Given the description of an element on the screen output the (x, y) to click on. 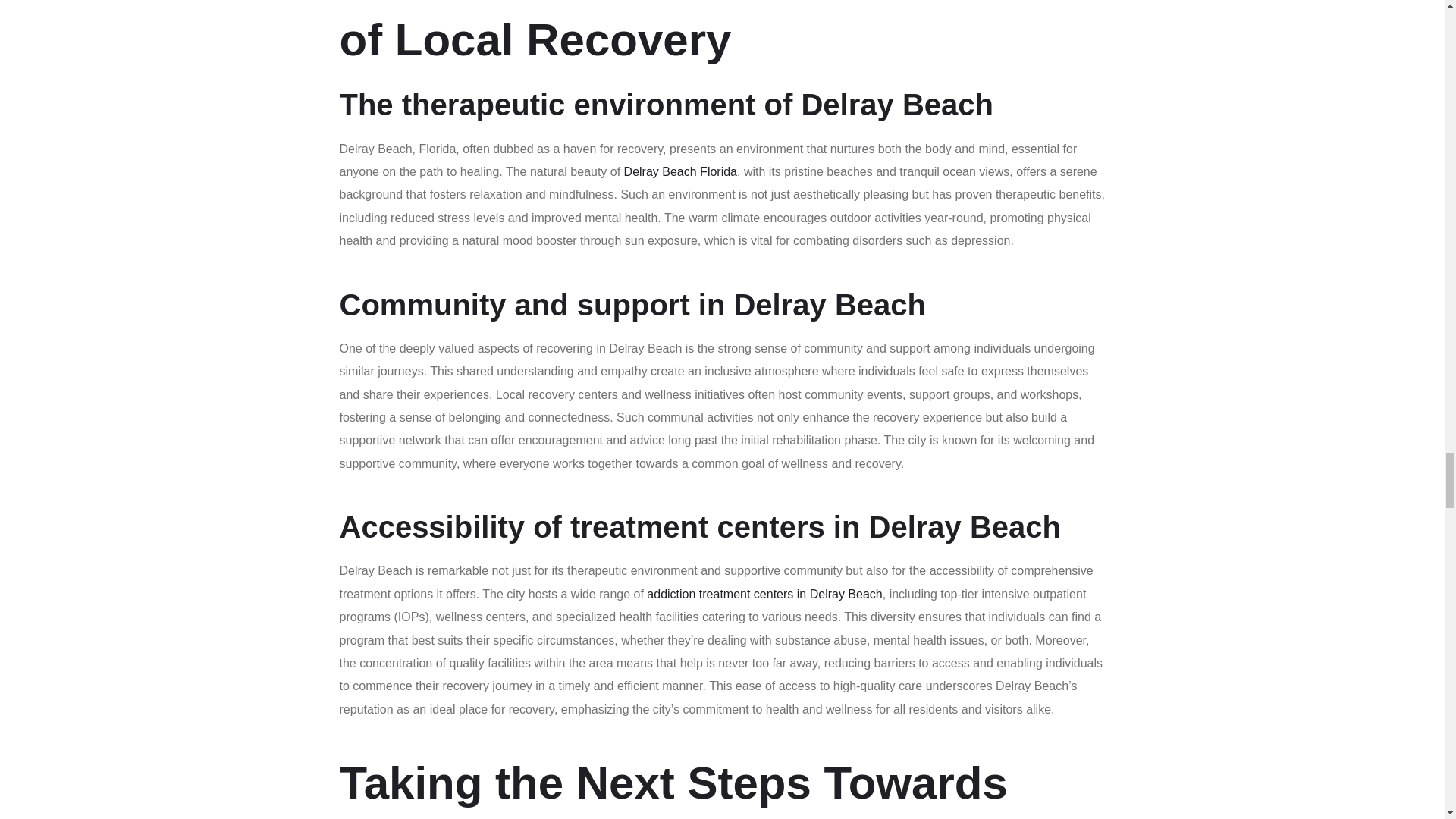
Delray Beach Florida (680, 171)
addiction treatment centers in Delray Beach (764, 594)
